Given the description of an element on the screen output the (x, y) to click on. 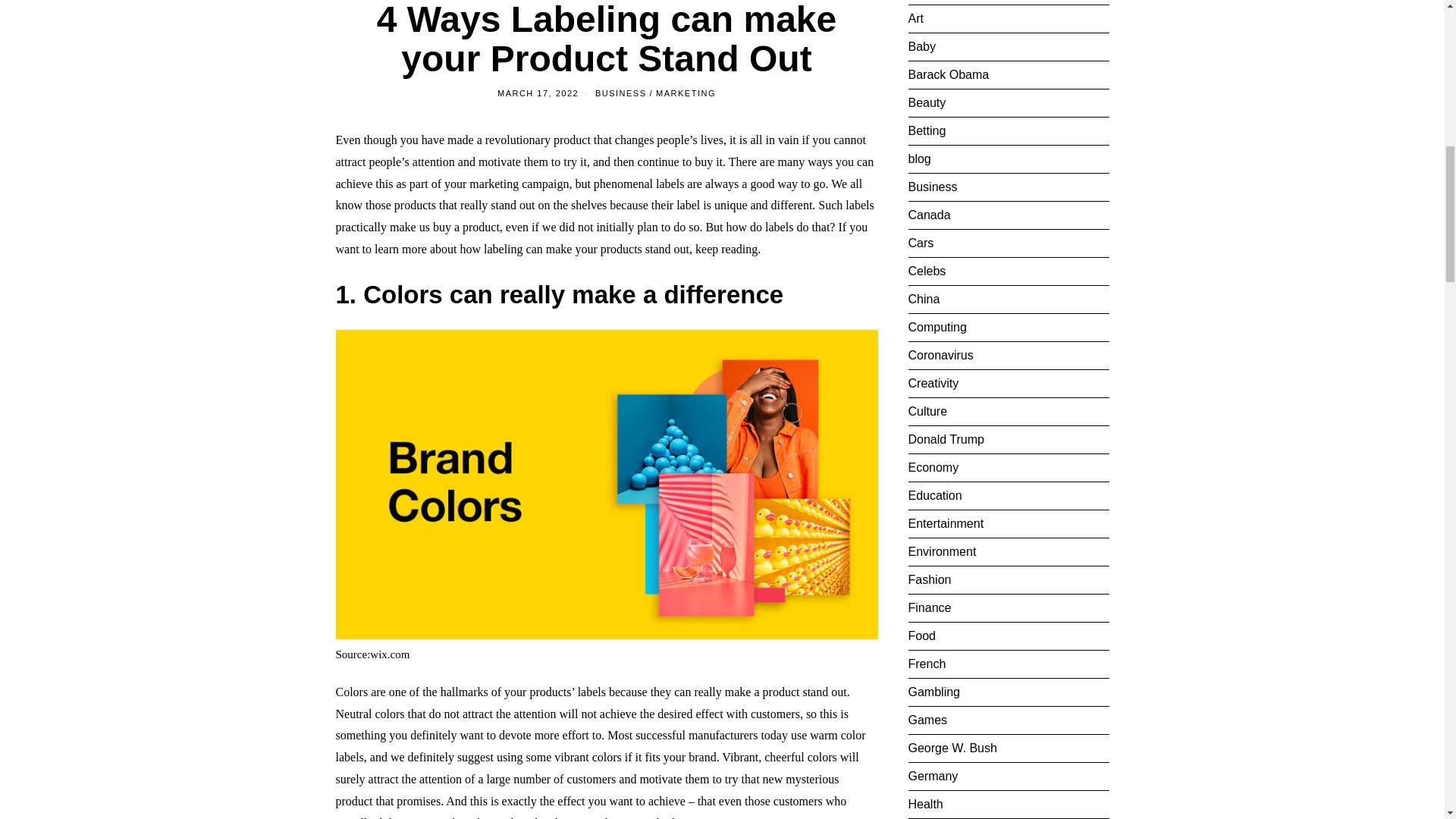
BUSINESS (620, 92)
MARKETING (686, 92)
